Given the description of an element on the screen output the (x, y) to click on. 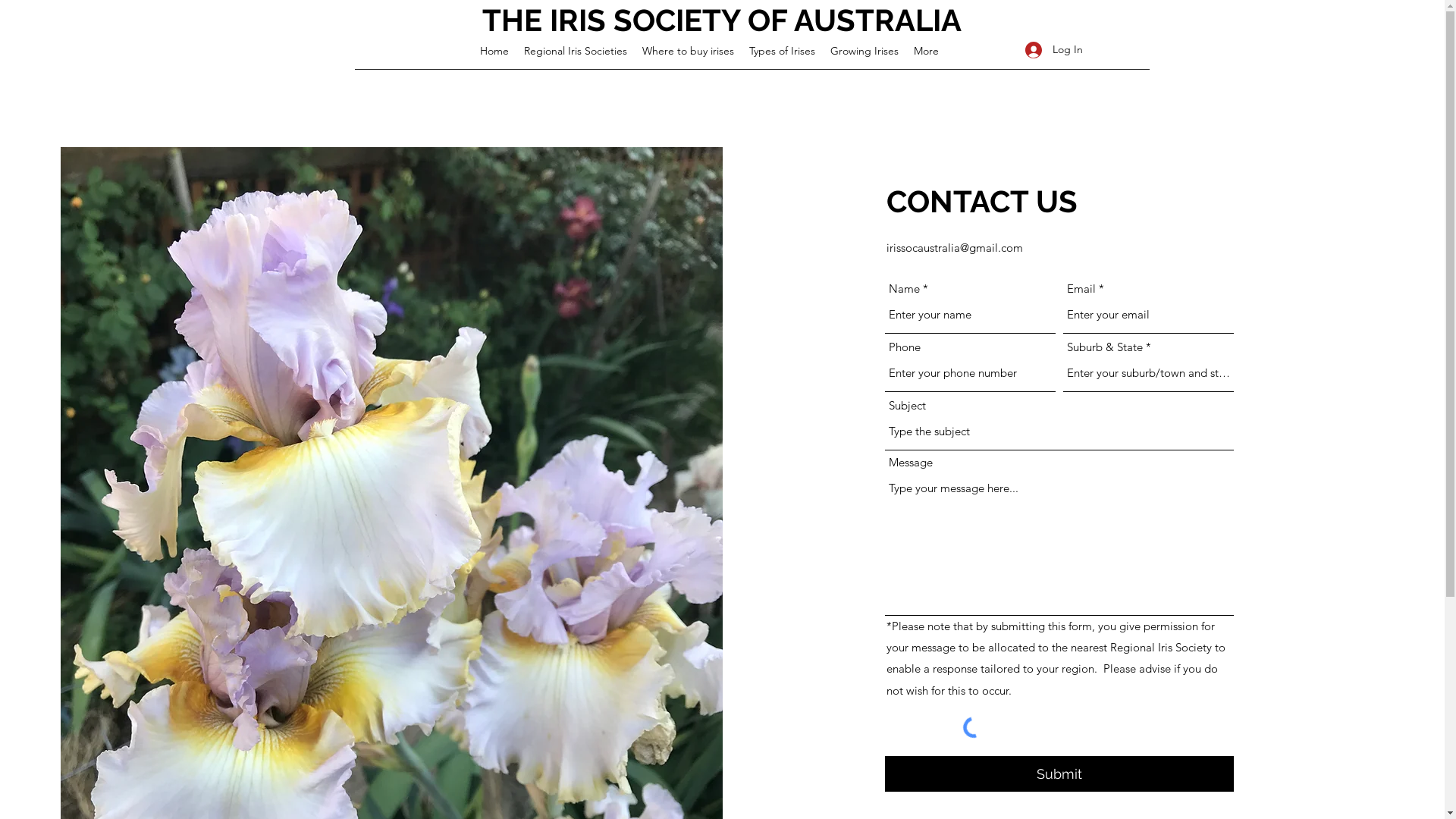
irissocaustralia@gmail.com Element type: text (954, 247)
Where to buy irises Element type: text (687, 50)
Submit Element type: text (1058, 773)
Log In Element type: text (1053, 49)
THE IRIS SOCIETY OF AUSTRALIA Element type: text (721, 19)
Growing Irises Element type: text (864, 50)
Types of Irises Element type: text (781, 50)
Regional Iris Societies Element type: text (575, 50)
Home Element type: text (494, 50)
